Given the description of an element on the screen output the (x, y) to click on. 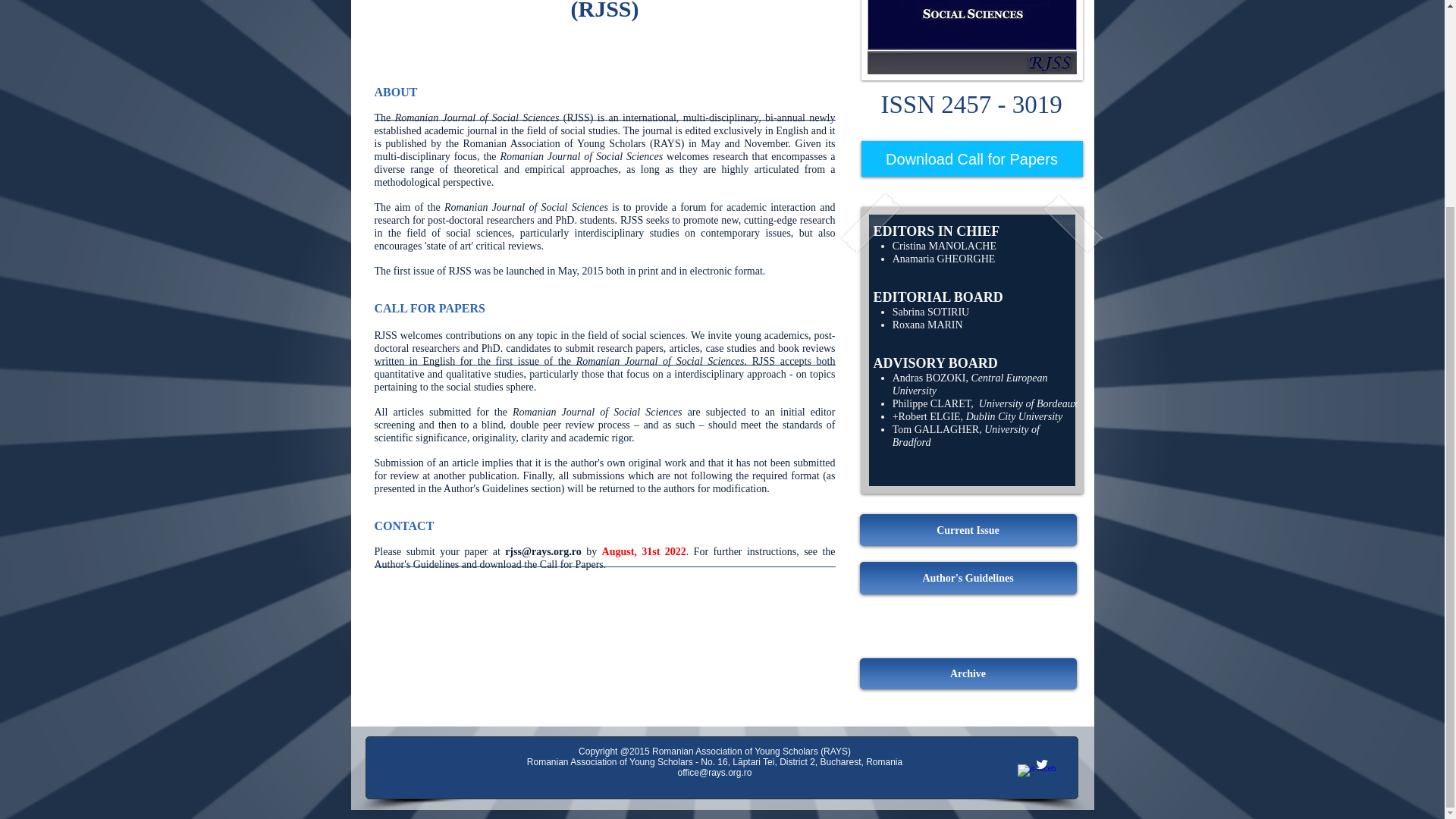
Author's Guidelines (968, 577)
Current Issue (968, 530)
Archive (968, 673)
Download Call for Papers (972, 158)
